Given the description of an element on the screen output the (x, y) to click on. 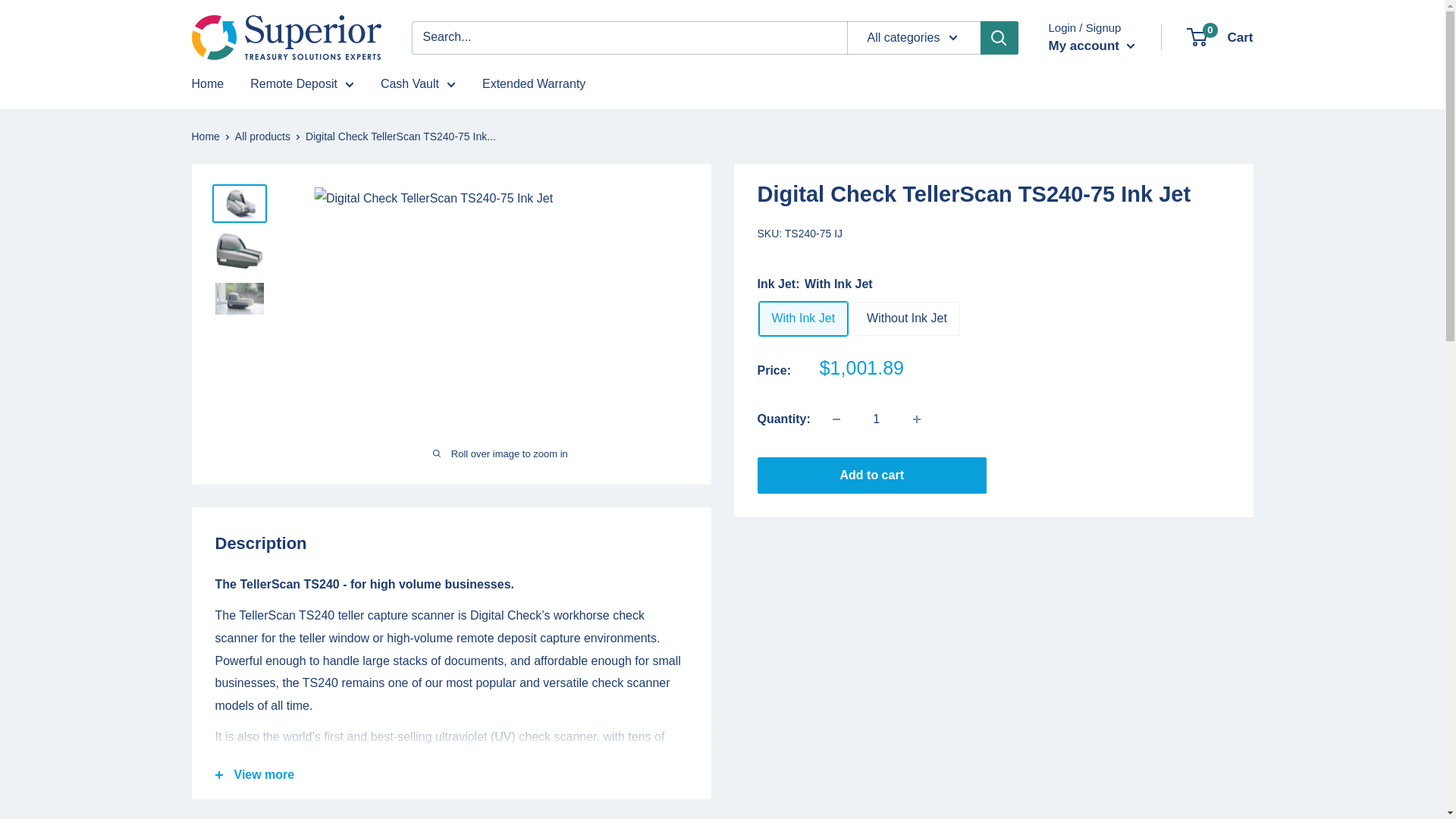
Decrease quantity by 1 (836, 418)
With Ink Jet (802, 318)
Home (207, 83)
Remote Deposit (301, 83)
1 (876, 418)
My account (1220, 37)
Superior (1091, 46)
Without Ink Jet (285, 37)
Increase quantity by 1 (906, 318)
